Given the description of an element on the screen output the (x, y) to click on. 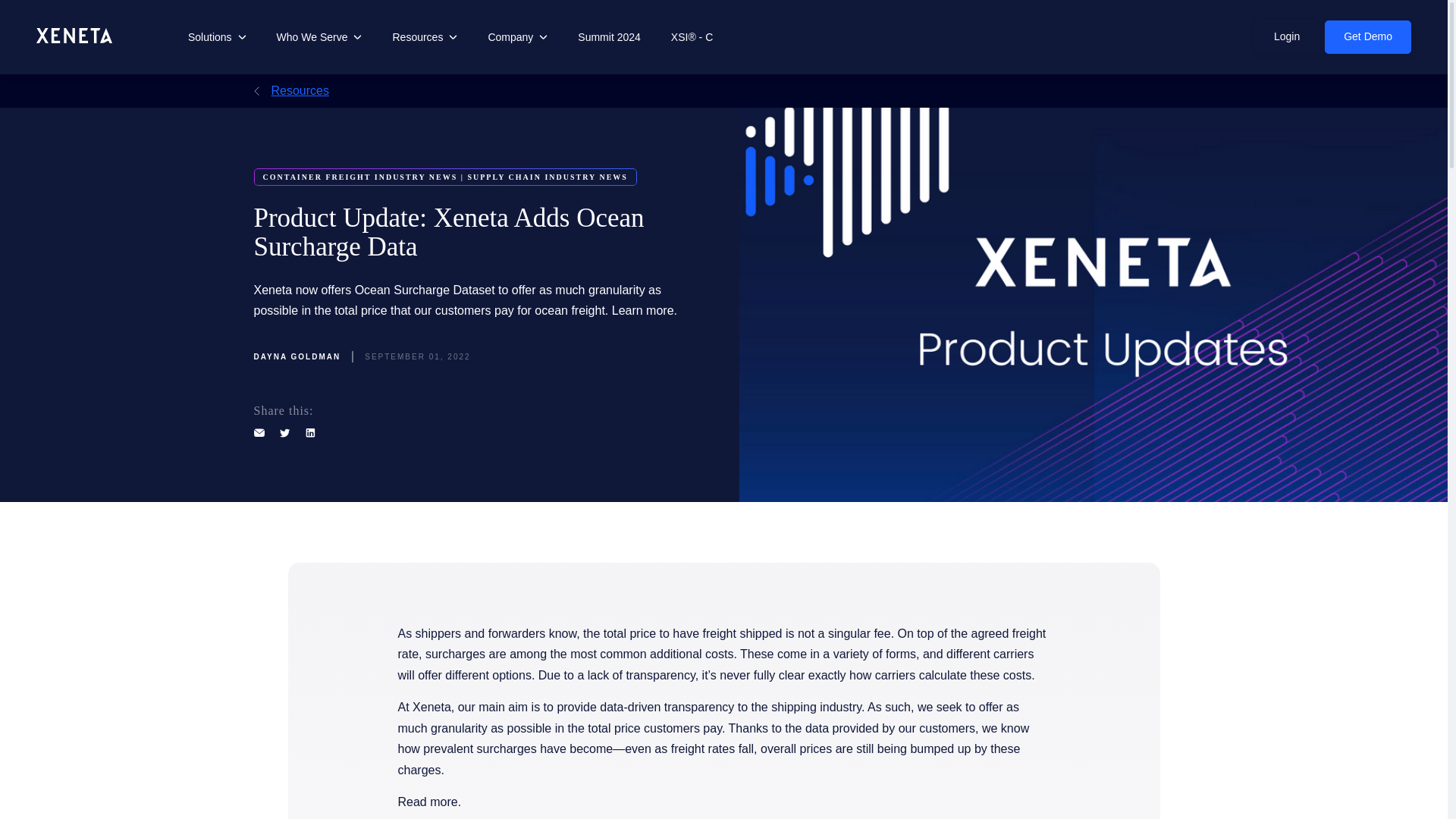
Subscribe (640, 221)
Customer Experience (363, 174)
Air Freight Advanced (792, 219)
All Products (252, 137)
Partners (244, 174)
Freight Forwarders (640, 219)
Shippers (640, 150)
Case Studies (344, 137)
Ocean Intelligence (551, 150)
Sales (880, 219)
